Given the description of an element on the screen output the (x, y) to click on. 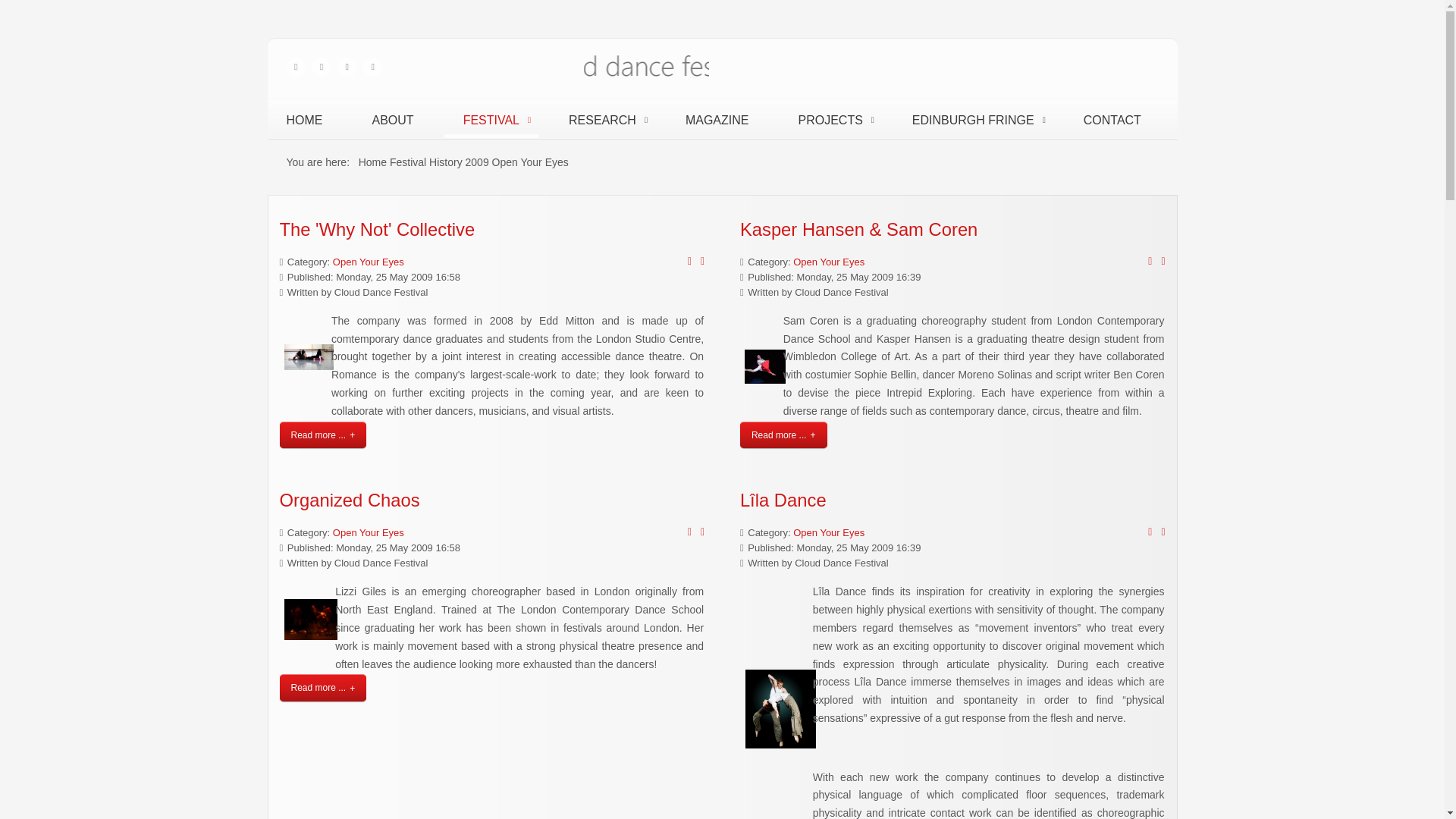
FESTIVAL (491, 120)
HOME (303, 120)
Email this link to a friend (1162, 531)
ABOUT (392, 120)
Email this link to a friend (1162, 261)
Email this link to a friend (702, 261)
Email this link to a friend (702, 531)
